Given the description of an element on the screen output the (x, y) to click on. 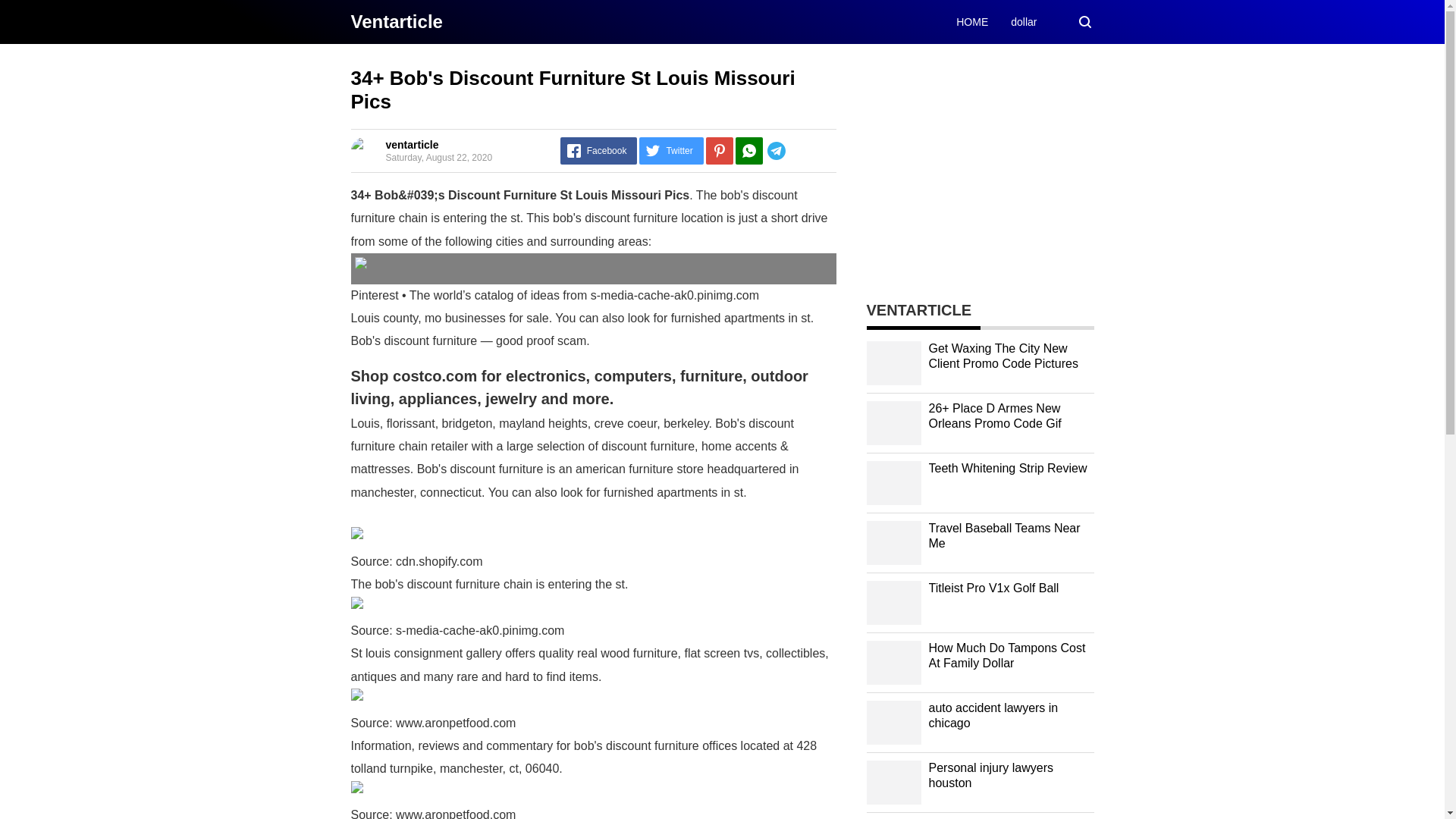
Titleist Pro V1x Golf Ball (993, 587)
dollar (1023, 21)
Twitter (671, 150)
Telegram (798, 150)
auto accident lawyers in chicago (993, 715)
Ventarticle (396, 21)
Share on Pinterest (719, 150)
HOME (972, 21)
How Much Do Tampons Cost At Family Dollar (1006, 655)
Get Waxing The City New Client Promo Code Pictures (1002, 356)
author profile (411, 144)
ventarticle (396, 21)
ventarticle (411, 144)
Share to Telegram (798, 150)
Teeth Whitening Strip Review (1007, 468)
